Given the description of an element on the screen output the (x, y) to click on. 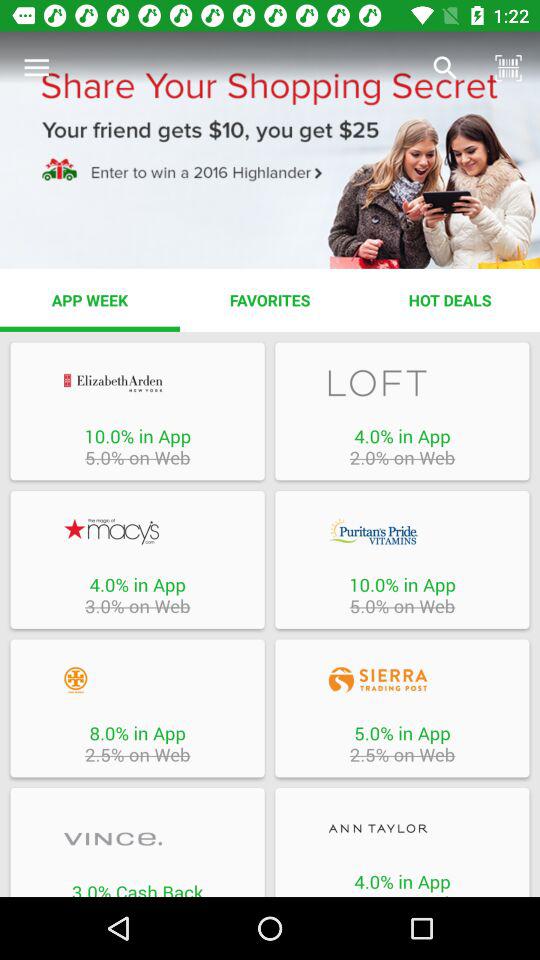
go to another website (137, 531)
